Given the description of an element on the screen output the (x, y) to click on. 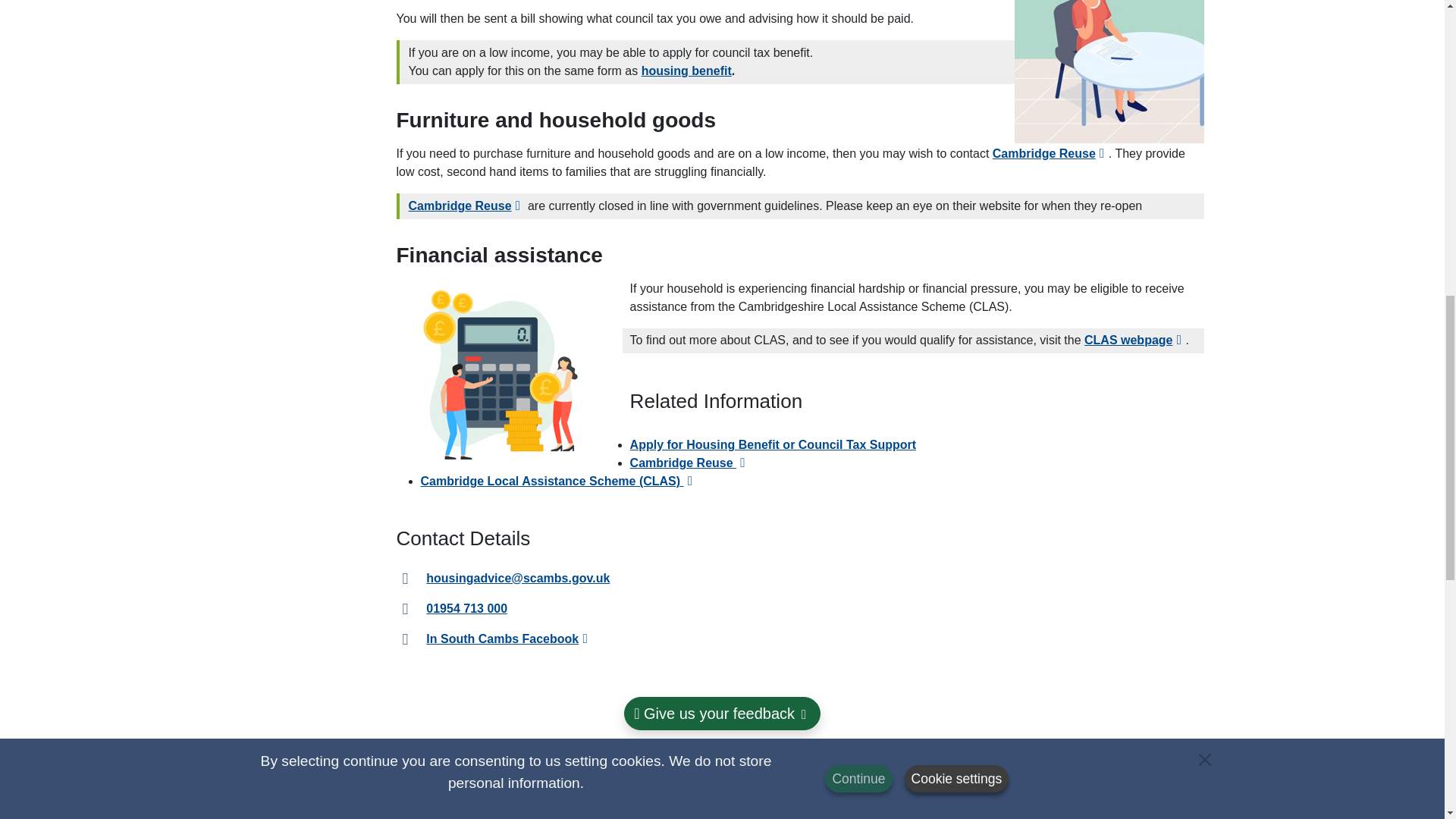
Cambridge Reuse (465, 205)
Apply for Housing Benefit or Council Tax Support (772, 444)
Cambridge Reuse (689, 462)
Cambridgeshire Local Assistance Scheme (1134, 339)
Housing Benefits Form (687, 70)
Cambridge reuse (1050, 153)
Consultations (1097, 758)
Cambridge Reuse (1050, 153)
Jobs (847, 758)
housing benefit (687, 70)
